Given the description of an element on the screen output the (x, y) to click on. 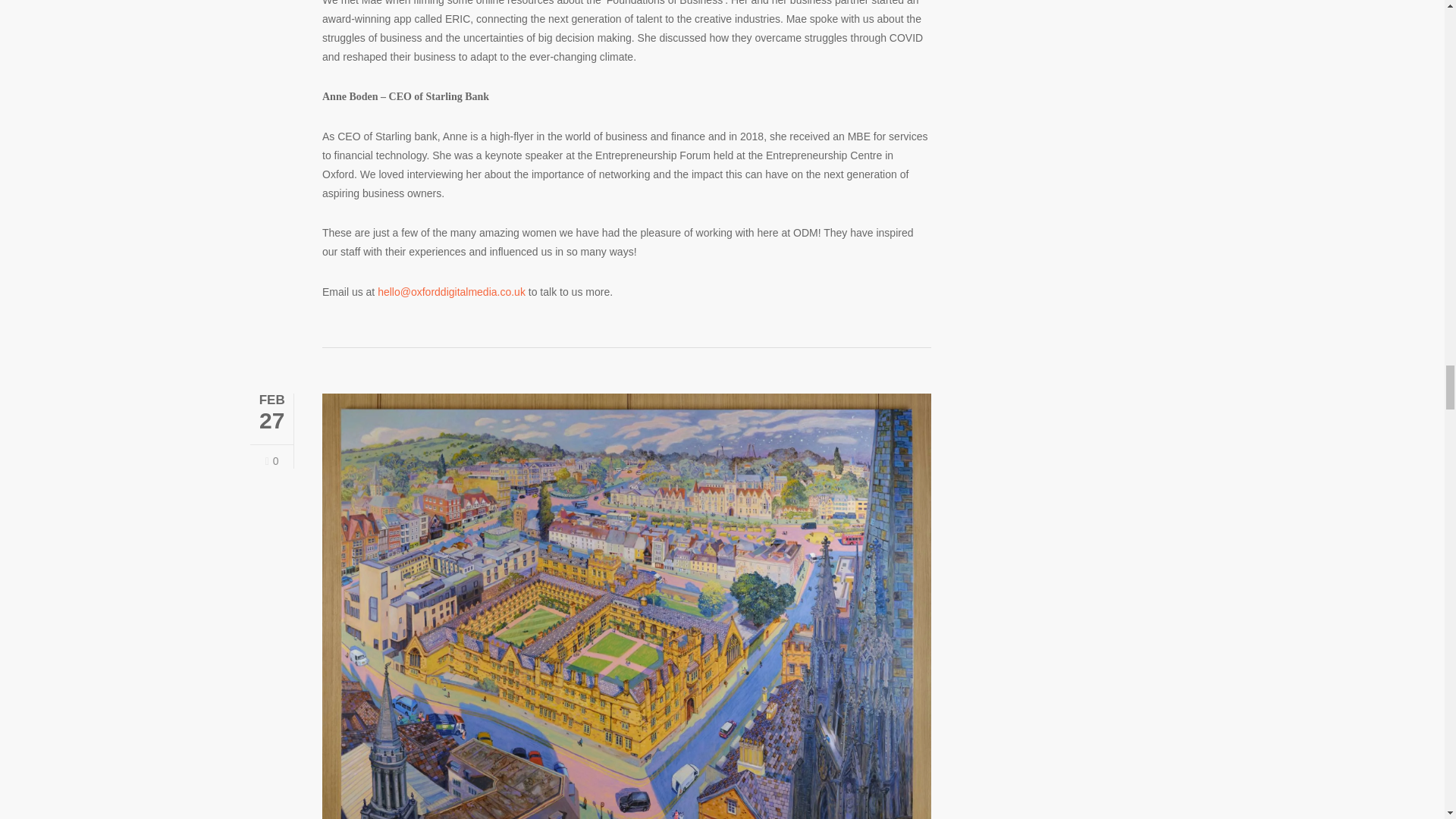
Love this (271, 460)
